Given the description of an element on the screen output the (x, y) to click on. 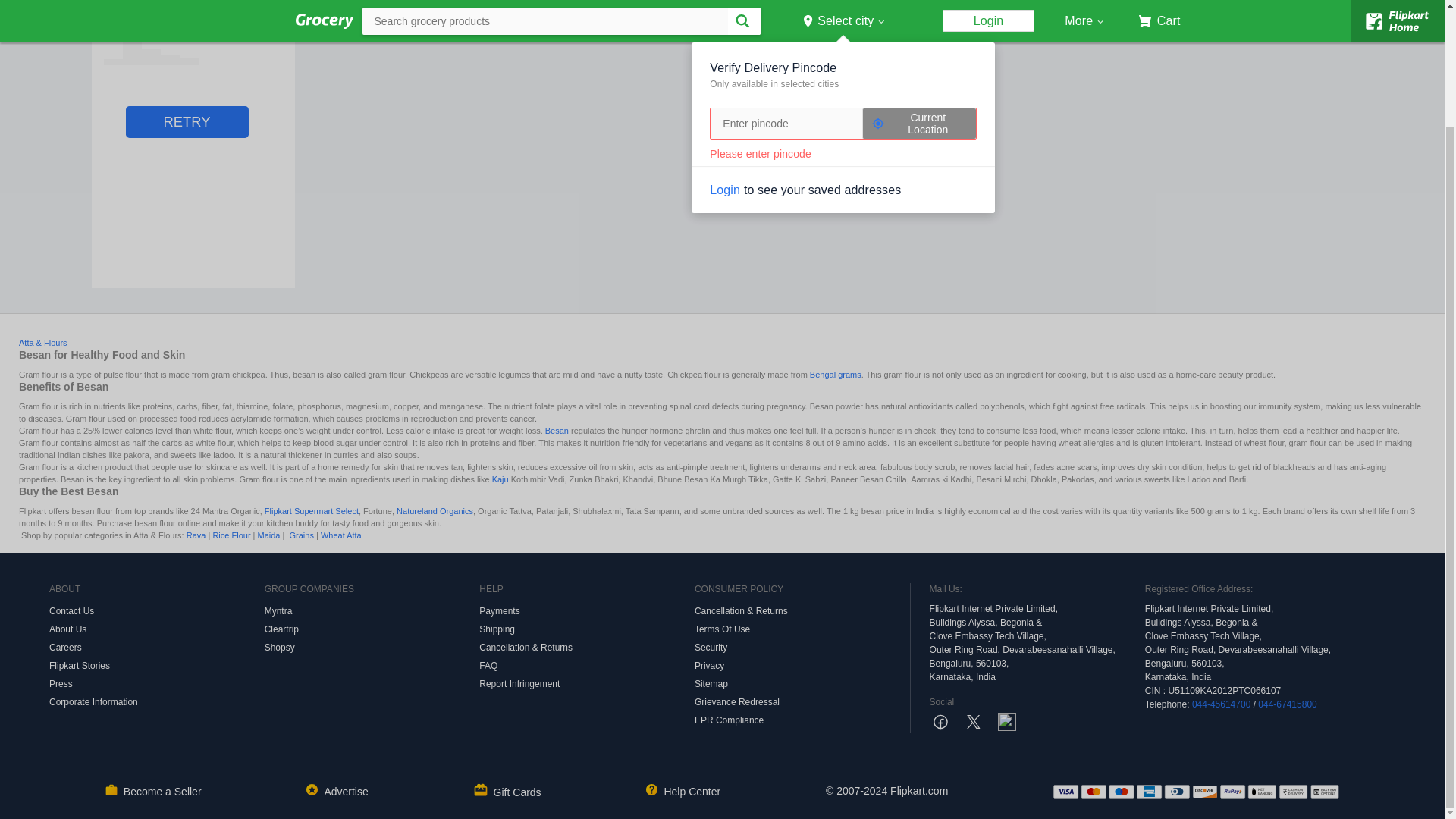
Privacy (802, 665)
Rice Flour (231, 534)
Shopsy (372, 647)
Kaju (501, 479)
Corporate Information (156, 701)
FAQ (586, 665)
Terms Of Use (802, 628)
Maida (269, 534)
Shopsy (372, 647)
Rava (196, 534)
